Given the description of an element on the screen output the (x, y) to click on. 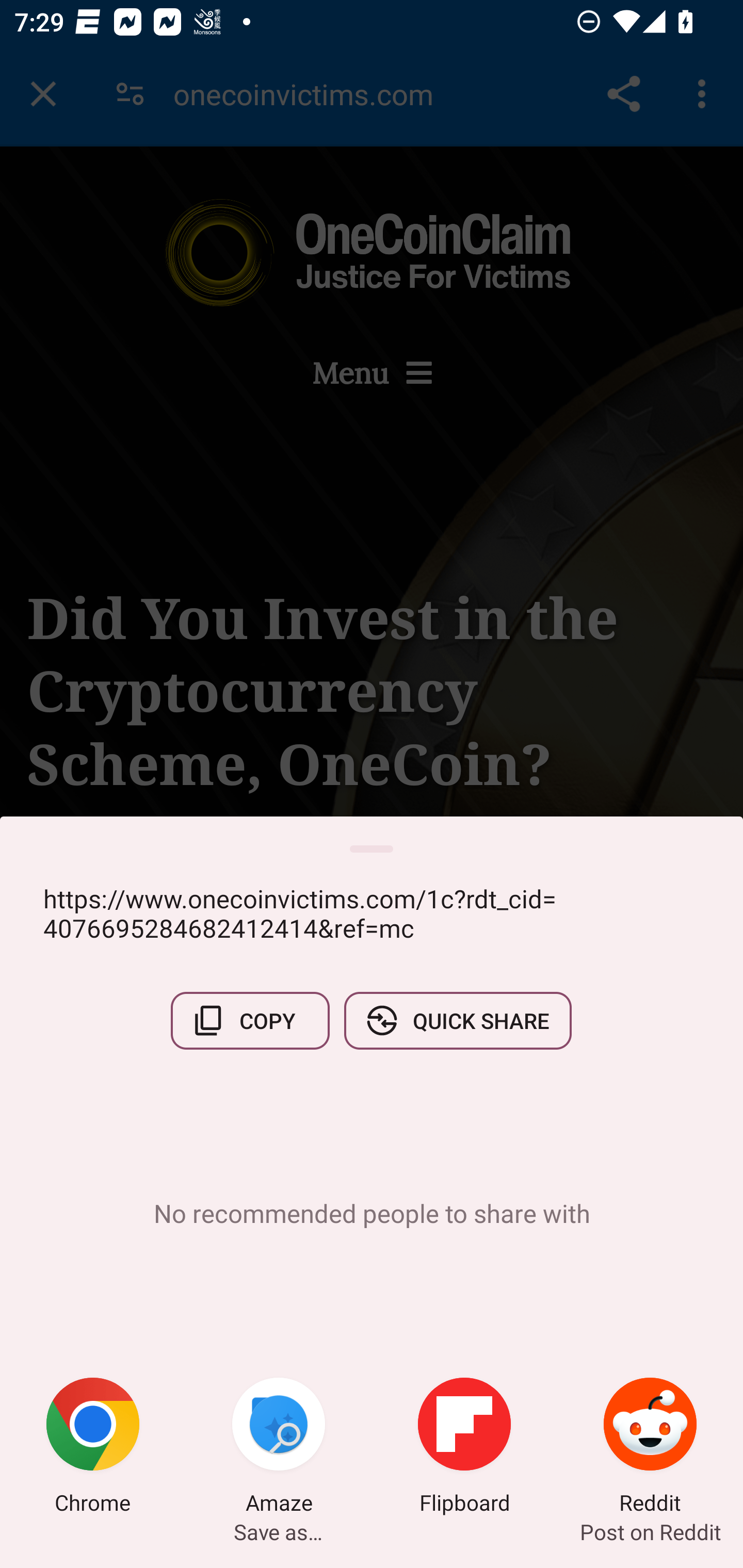
COPY (249, 1020)
QUICK SHARE (457, 1020)
Chrome (92, 1448)
Amaze Save as… (278, 1448)
Flipboard (464, 1448)
Reddit Post on Reddit (650, 1448)
